Given the description of an element on the screen output the (x, y) to click on. 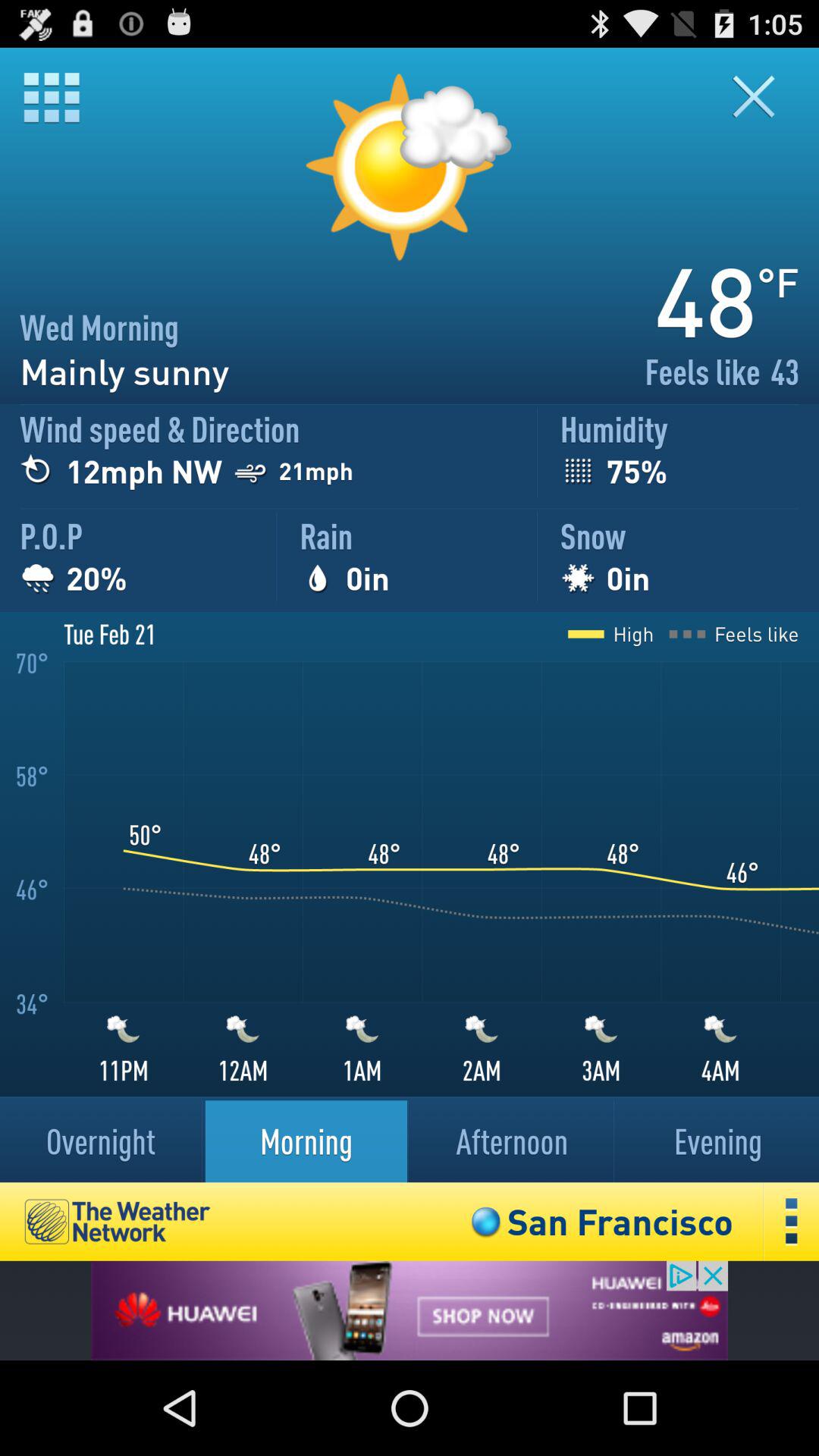
close (763, 96)
